Given the description of an element on the screen output the (x, y) to click on. 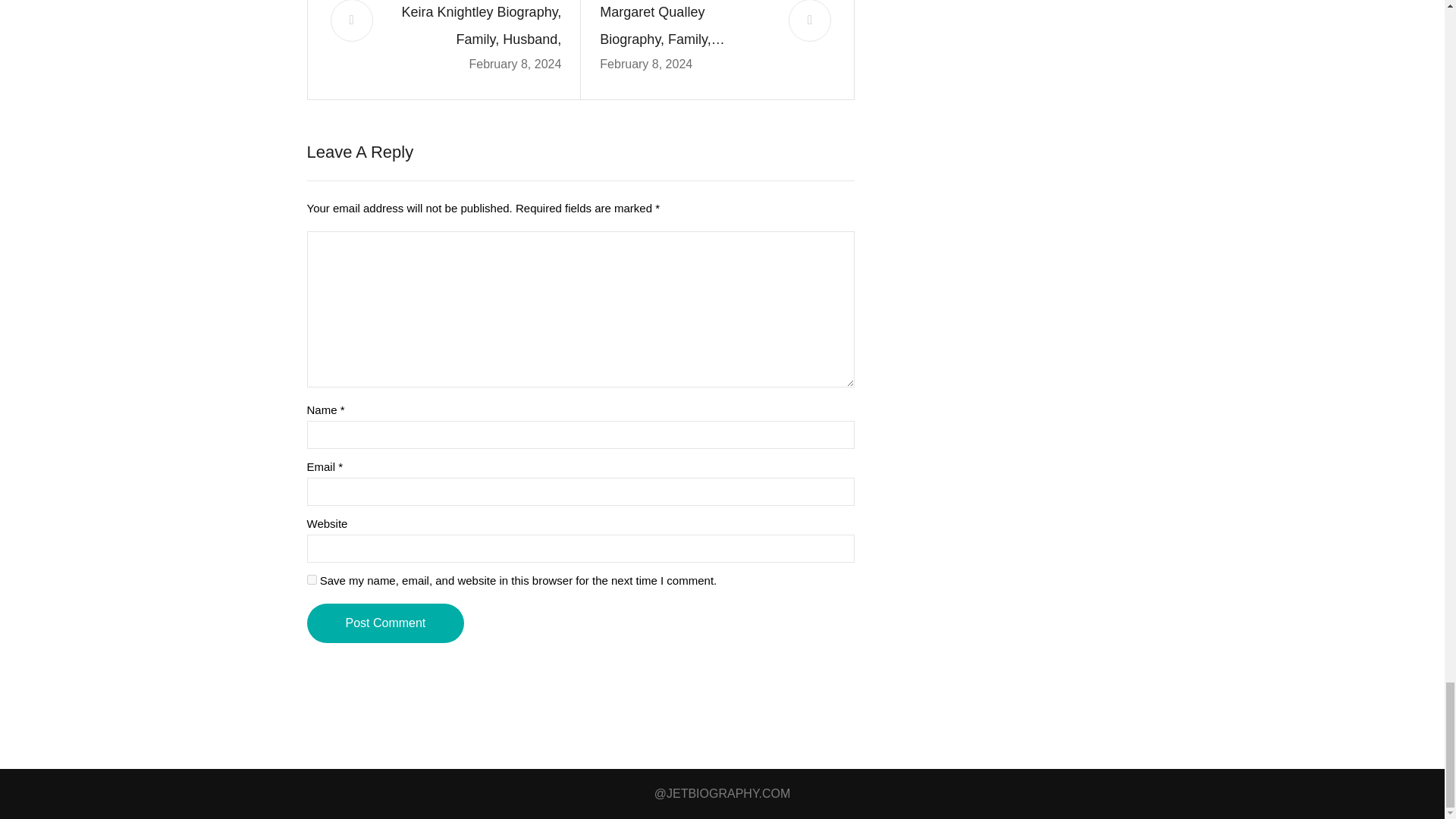
yes (310, 579)
Post Comment (384, 622)
February 8, 2024 (514, 63)
